Given the description of an element on the screen output the (x, y) to click on. 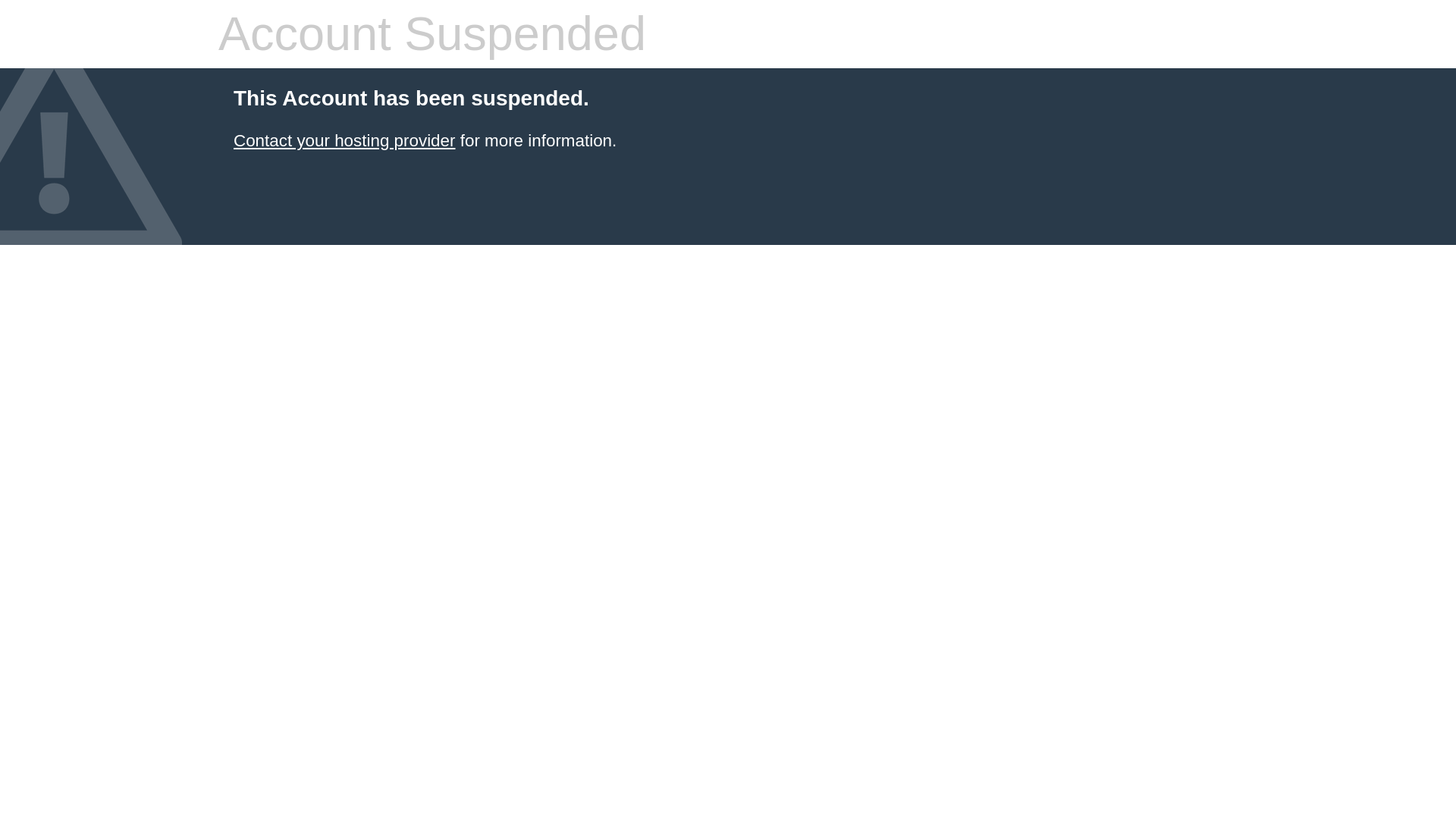
Contact your hosting provider (343, 140)
